Given the description of an element on the screen output the (x, y) to click on. 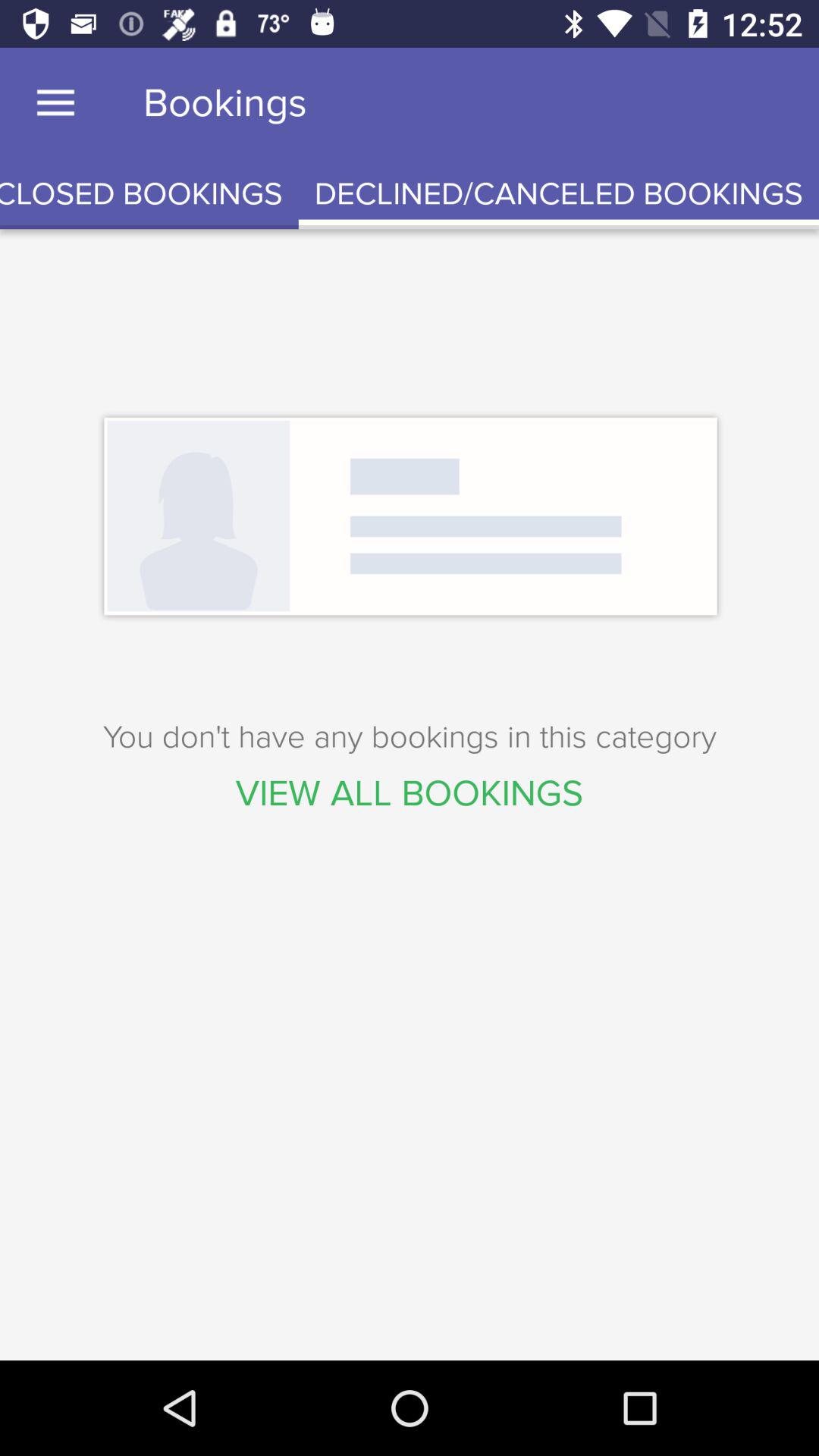
click icon at the top right corner (558, 194)
